Given the description of an element on the screen output the (x, y) to click on. 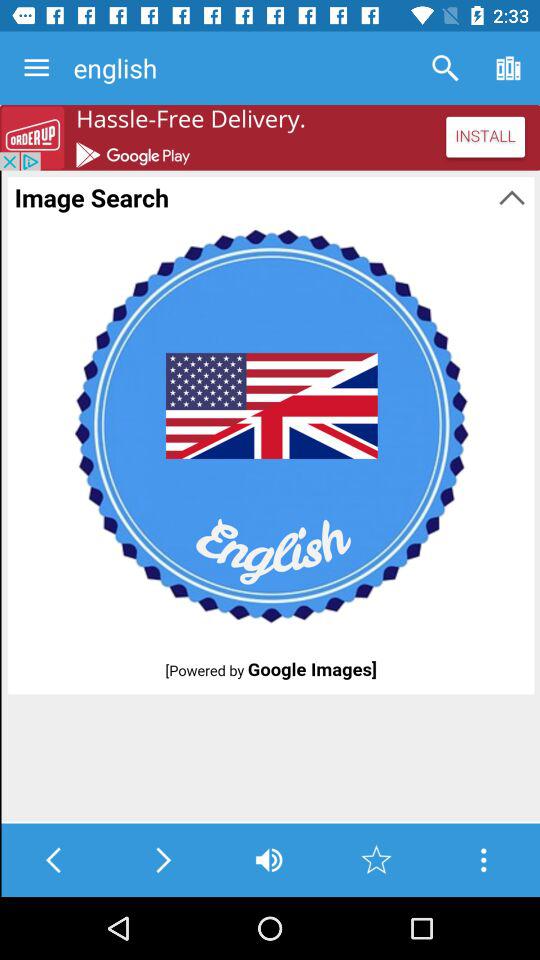
go to back (54, 859)
